Given the description of an element on the screen output the (x, y) to click on. 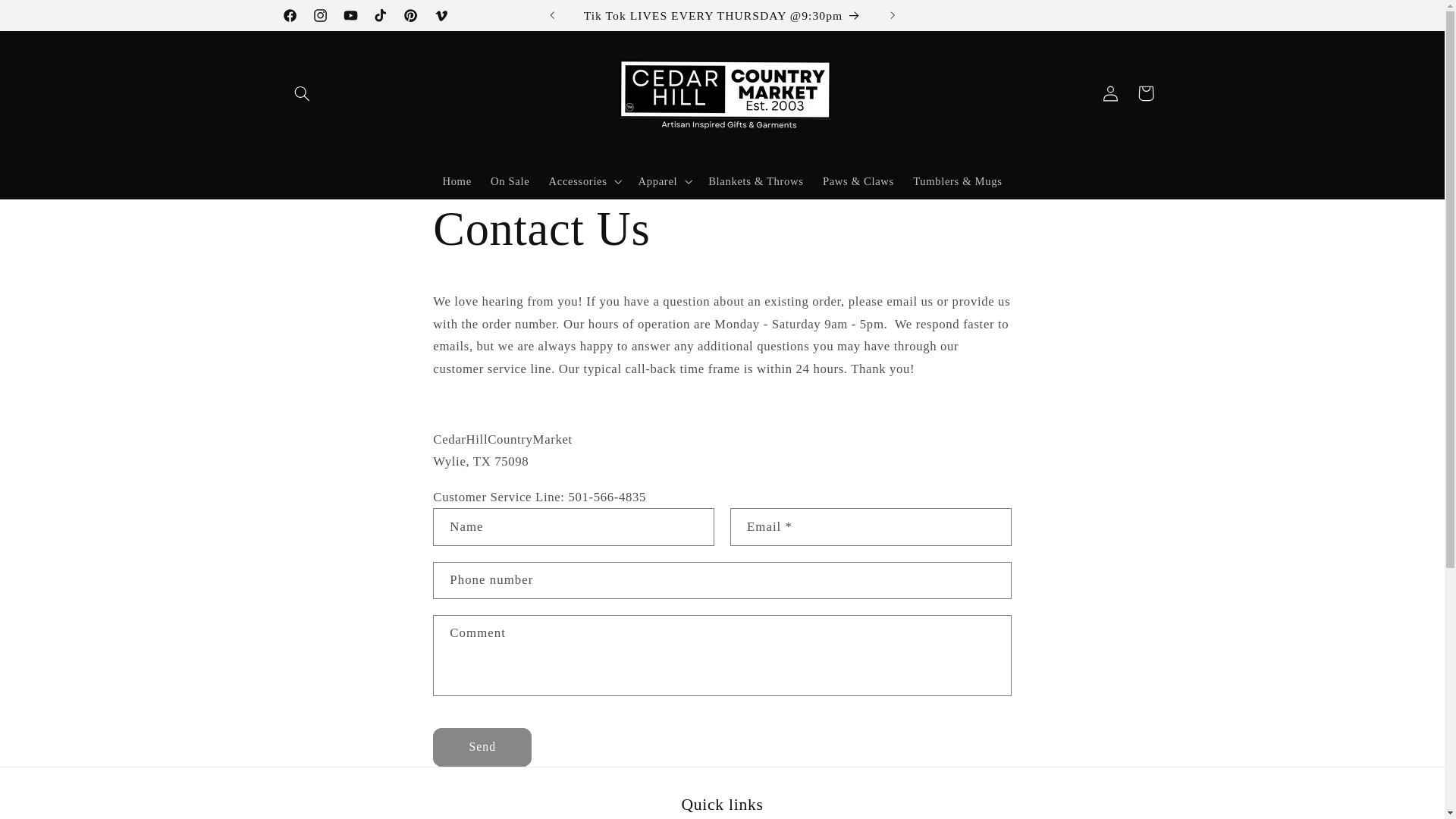
Facebook (289, 15)
Vimeo (441, 15)
Pinterest (411, 15)
Instagram (319, 15)
TikTok (380, 15)
YouTube (349, 15)
Skip to content (48, 18)
